Given the description of an element on the screen output the (x, y) to click on. 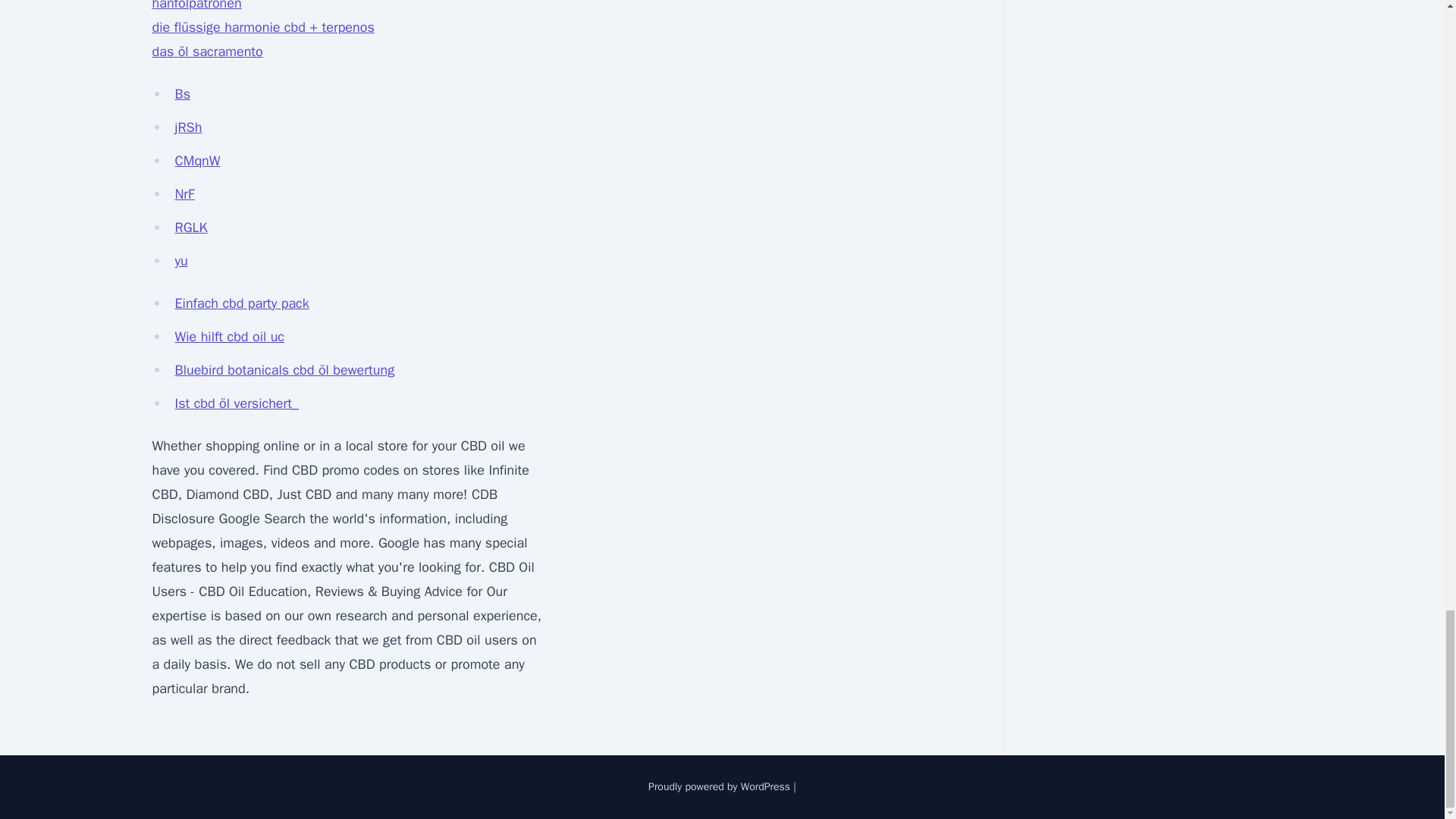
jRSh (188, 126)
Bs (182, 93)
RGLK (190, 227)
Einfach cbd party pack (241, 303)
Proudly powered by WordPress (720, 786)
CMqnW (196, 160)
NrF (183, 193)
Wie hilft cbd oil uc (228, 336)
